Given the description of an element on the screen output the (x, y) to click on. 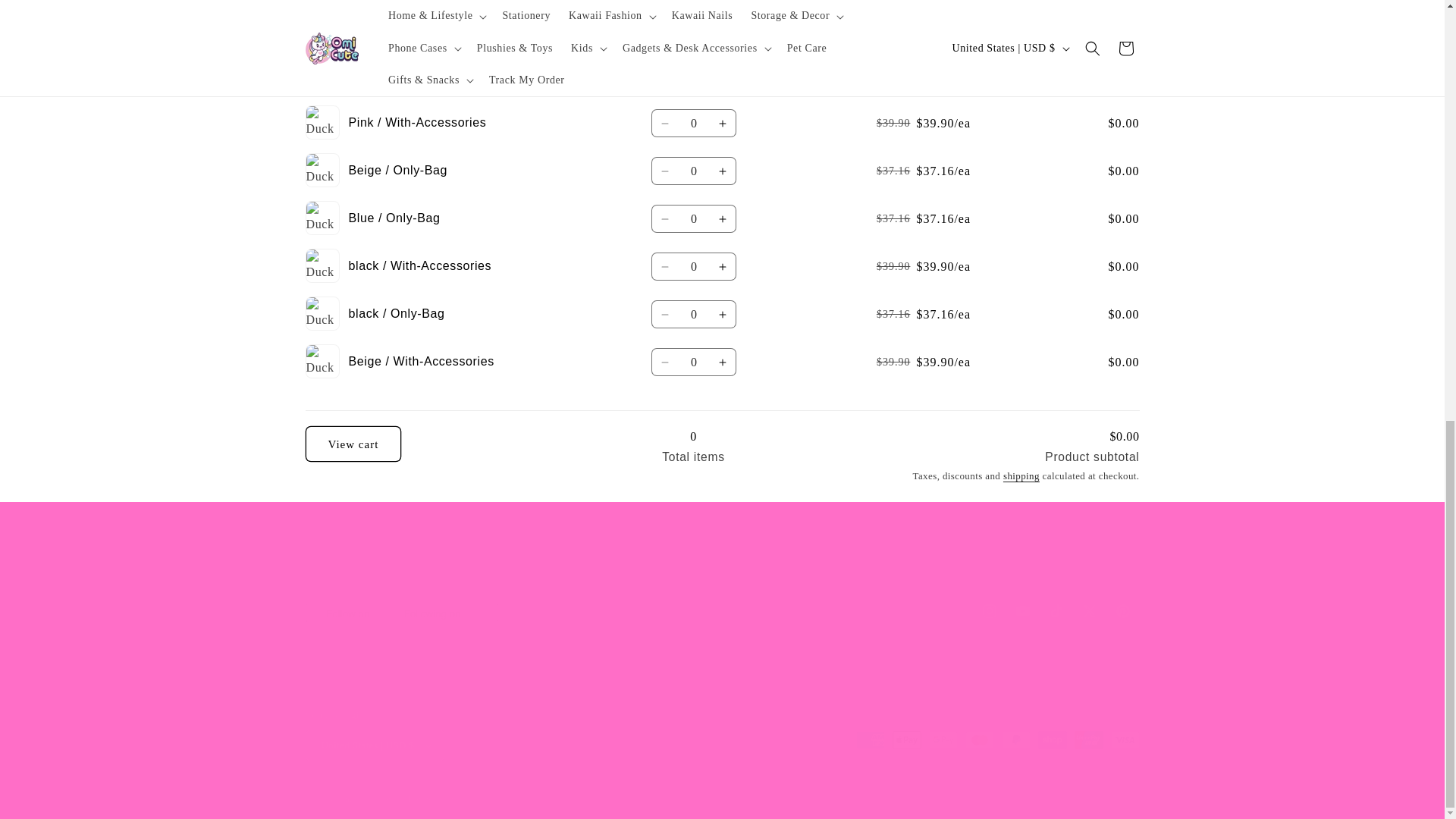
0 (693, 171)
0 (693, 27)
0 (693, 314)
0 (693, 218)
0 (693, 75)
0 (693, 122)
0 (693, 361)
0 (693, 266)
